Given the description of an element on the screen output the (x, y) to click on. 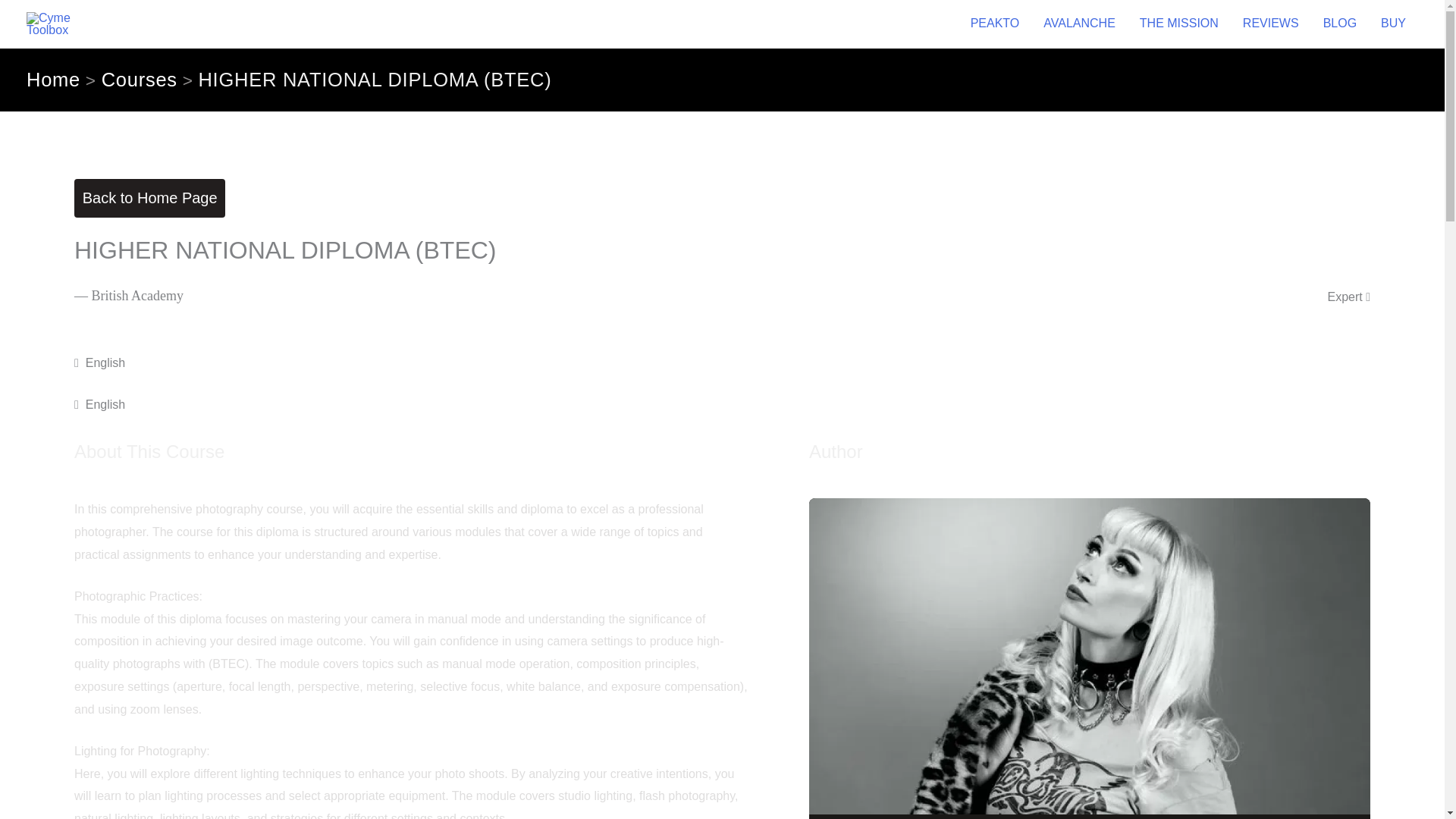
Back to Home Page (149, 198)
BLOG (1339, 23)
Courses (139, 79)
AVALANCHE (1078, 23)
THE MISSION (1178, 23)
Home (53, 79)
REVIEWS (1270, 23)
BUY (1393, 23)
PEAKTO (995, 23)
